Given the description of an element on the screen output the (x, y) to click on. 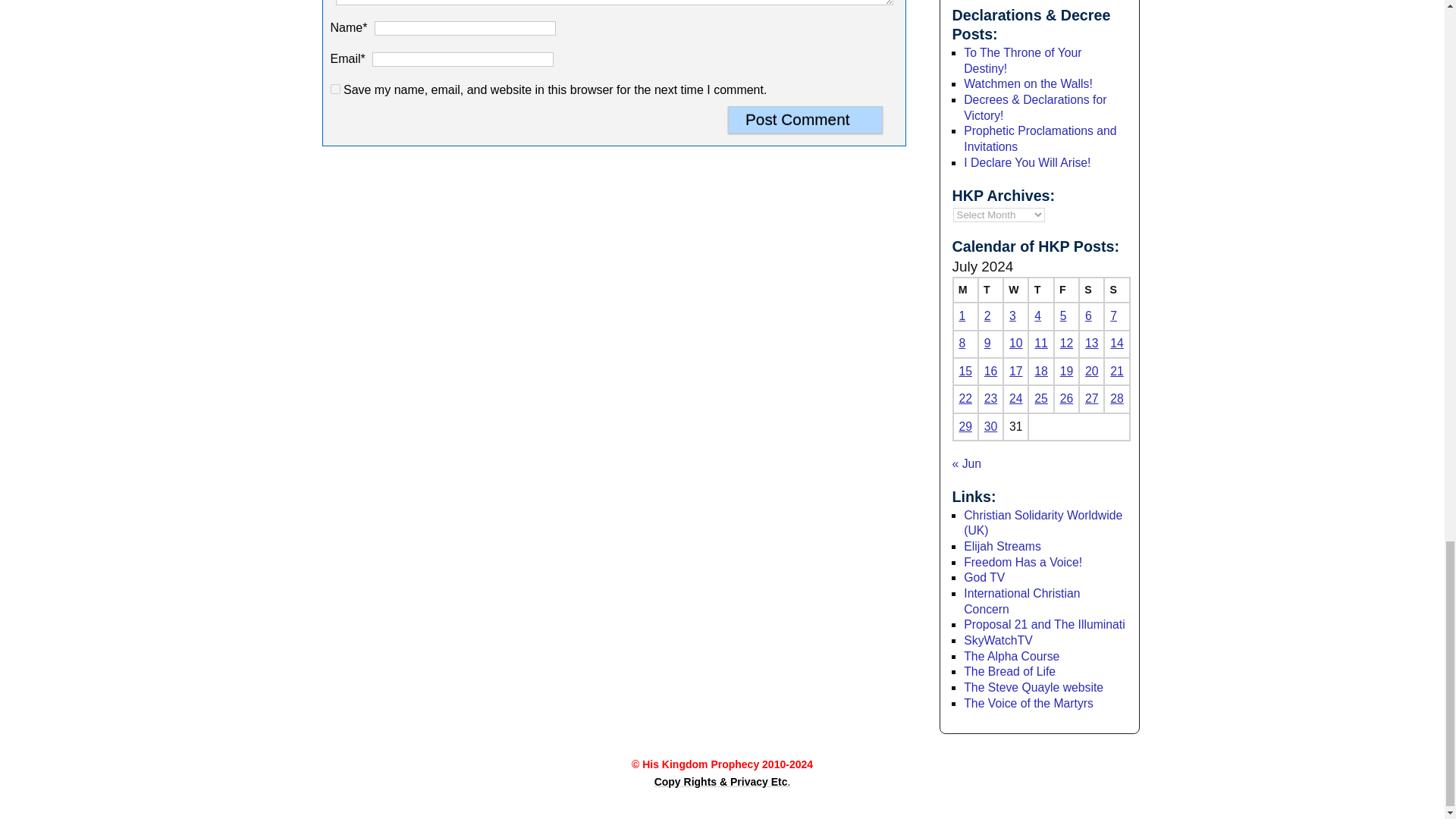
Friday (1066, 289)
Monday (964, 289)
Post Comment (805, 119)
Tuesday (990, 289)
yes (335, 89)
Thursday (1039, 289)
Wednesday (1015, 289)
